Given the description of an element on the screen output the (x, y) to click on. 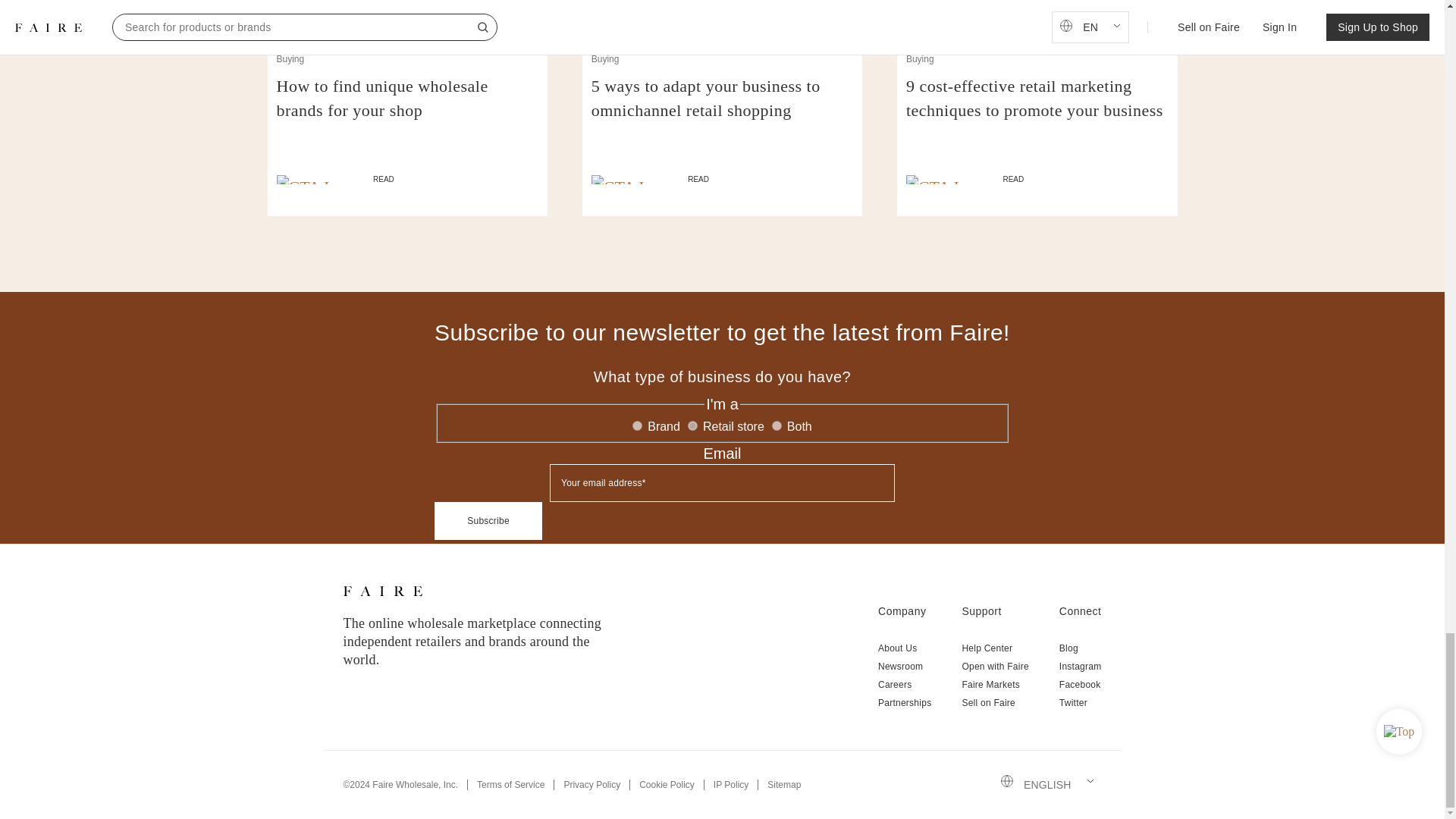
How to find unique wholesale brands for your shop (407, 110)
Buying (290, 59)
5 ways to adapt your business to omnichannel retail shopping (722, 110)
Subscribe (487, 520)
FAIRE (382, 591)
Both (776, 425)
How to find unique wholesale brands for your shop (407, 110)
Buying (605, 59)
READ (722, 179)
Brand (636, 425)
Retail store (692, 425)
5 ways to adapt your business to omnichannel retail shopping (722, 110)
READ (407, 179)
